Given the description of an element on the screen output the (x, y) to click on. 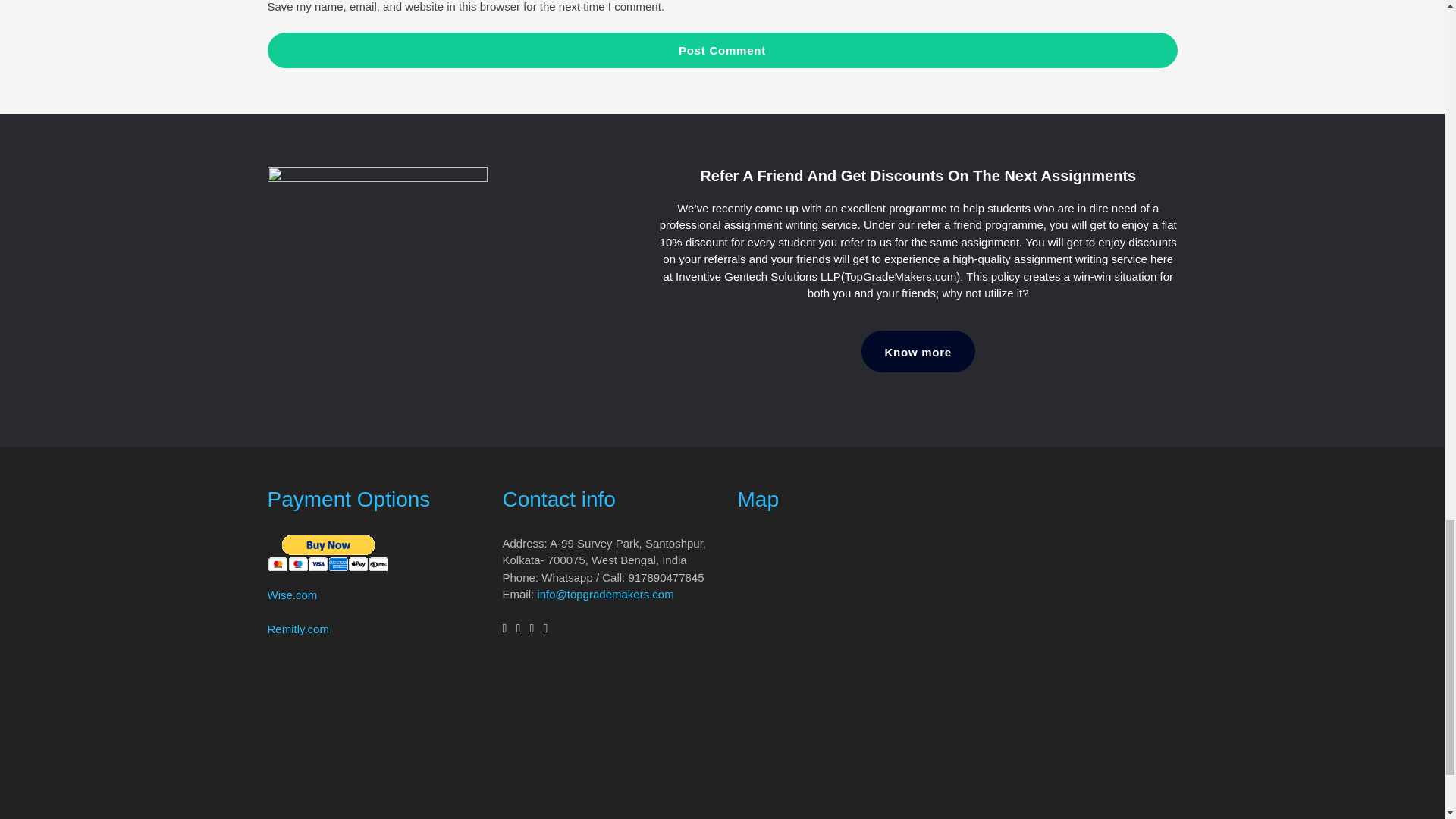
Post Comment (721, 49)
